Given the description of an element on the screen output the (x, y) to click on. 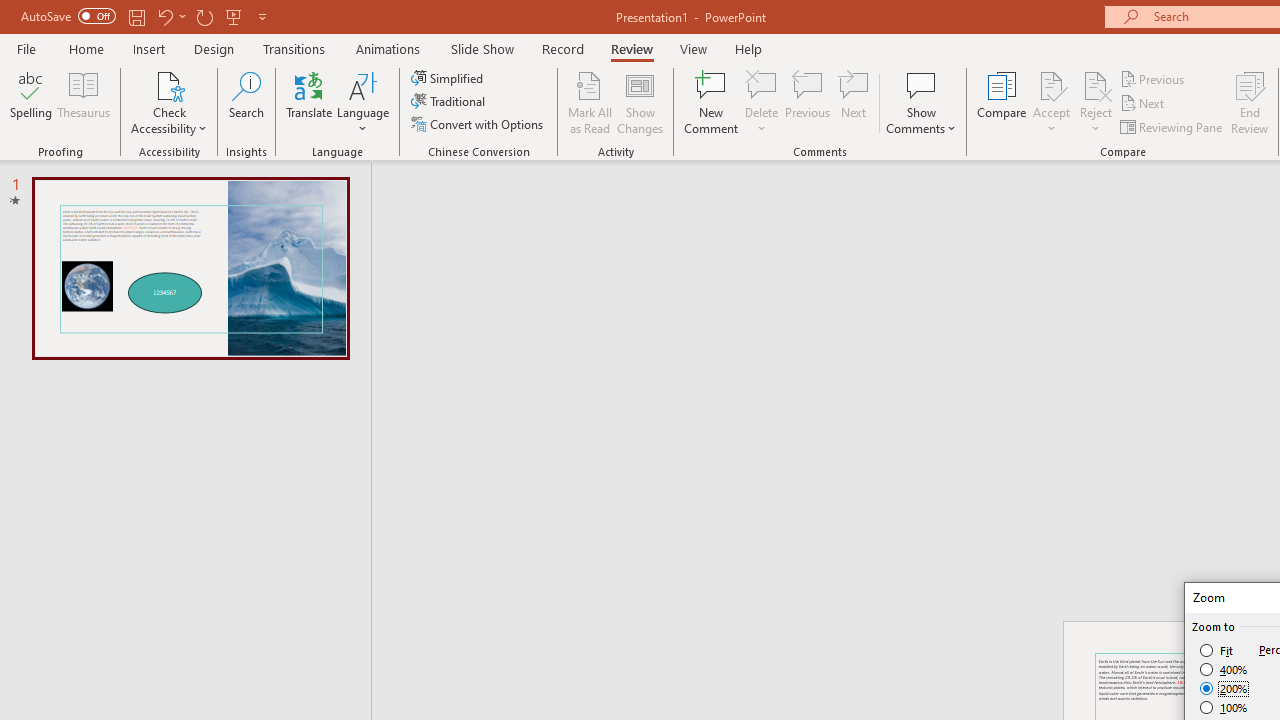
200% (1224, 688)
400% (1224, 669)
